Given the description of an element on the screen output the (x, y) to click on. 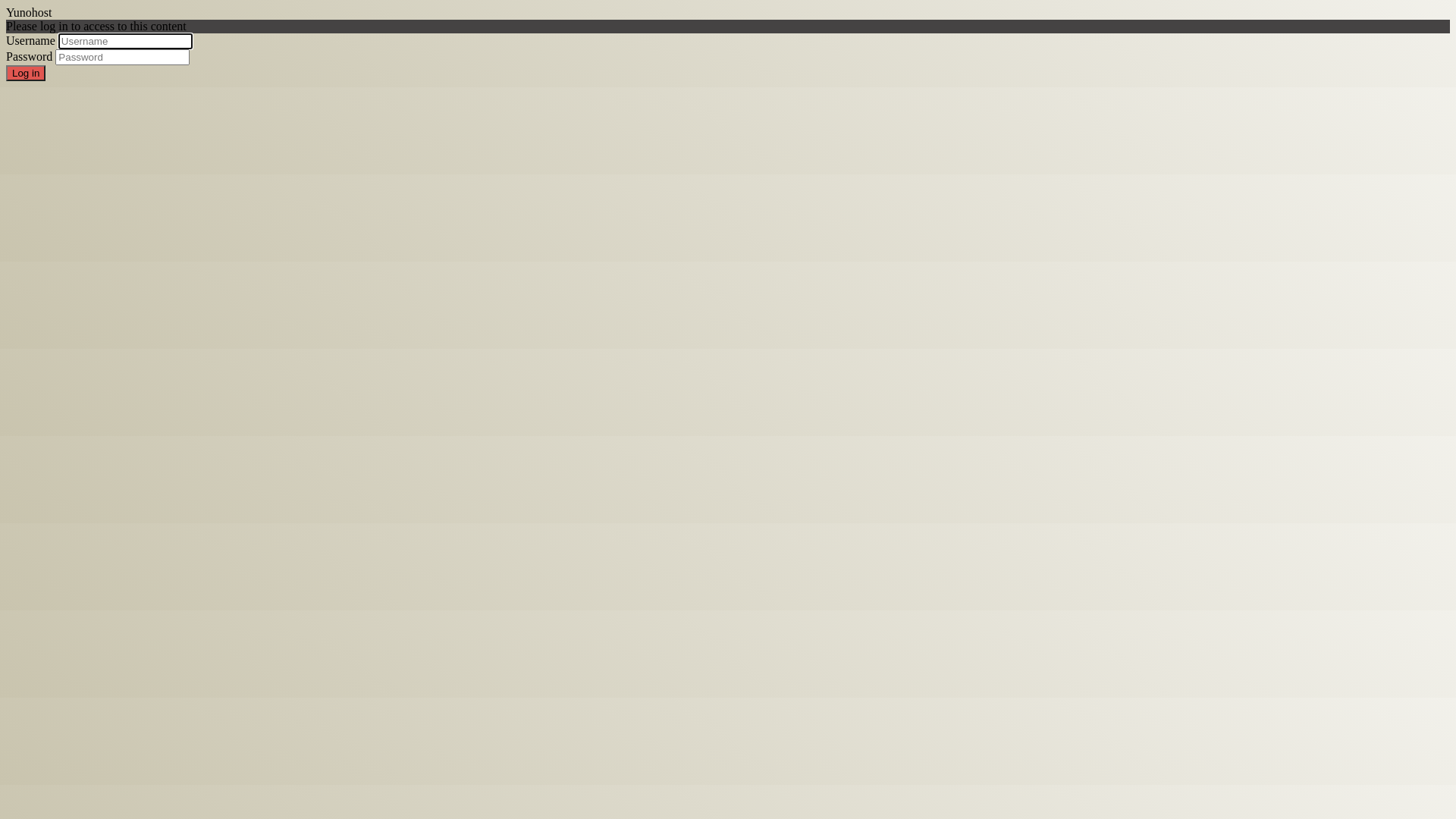
Log in Element type: text (25, 73)
